Given the description of an element on the screen output the (x, y) to click on. 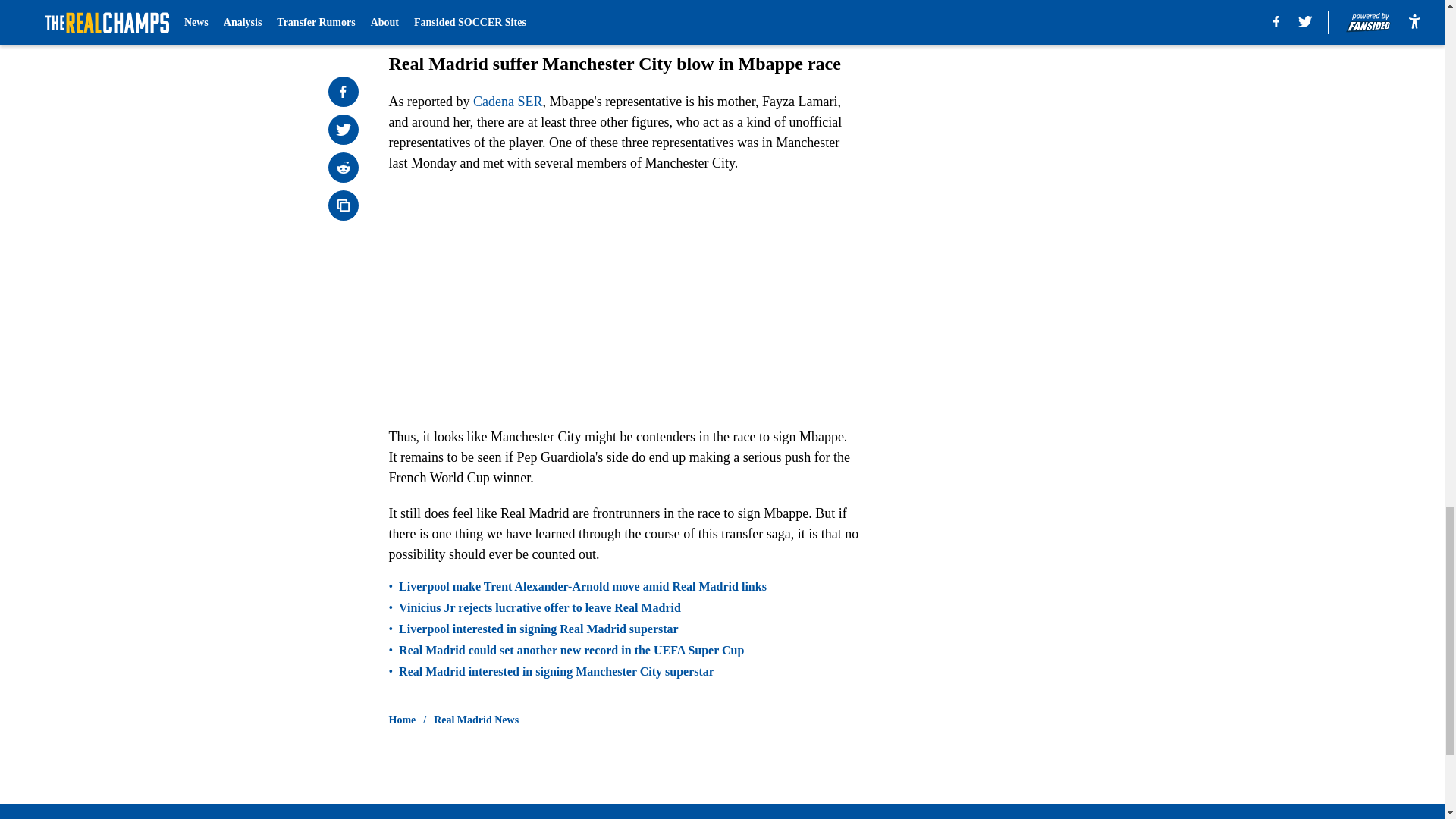
Vinicius Jr rejects lucrative offer to leave Real Madrid (539, 608)
Real Madrid News (475, 720)
Real Madrid interested in signing Manchester City superstar (556, 671)
Home (401, 720)
Cadena SER (508, 101)
Liverpool interested in signing Real Madrid superstar (538, 629)
